Given the description of an element on the screen output the (x, y) to click on. 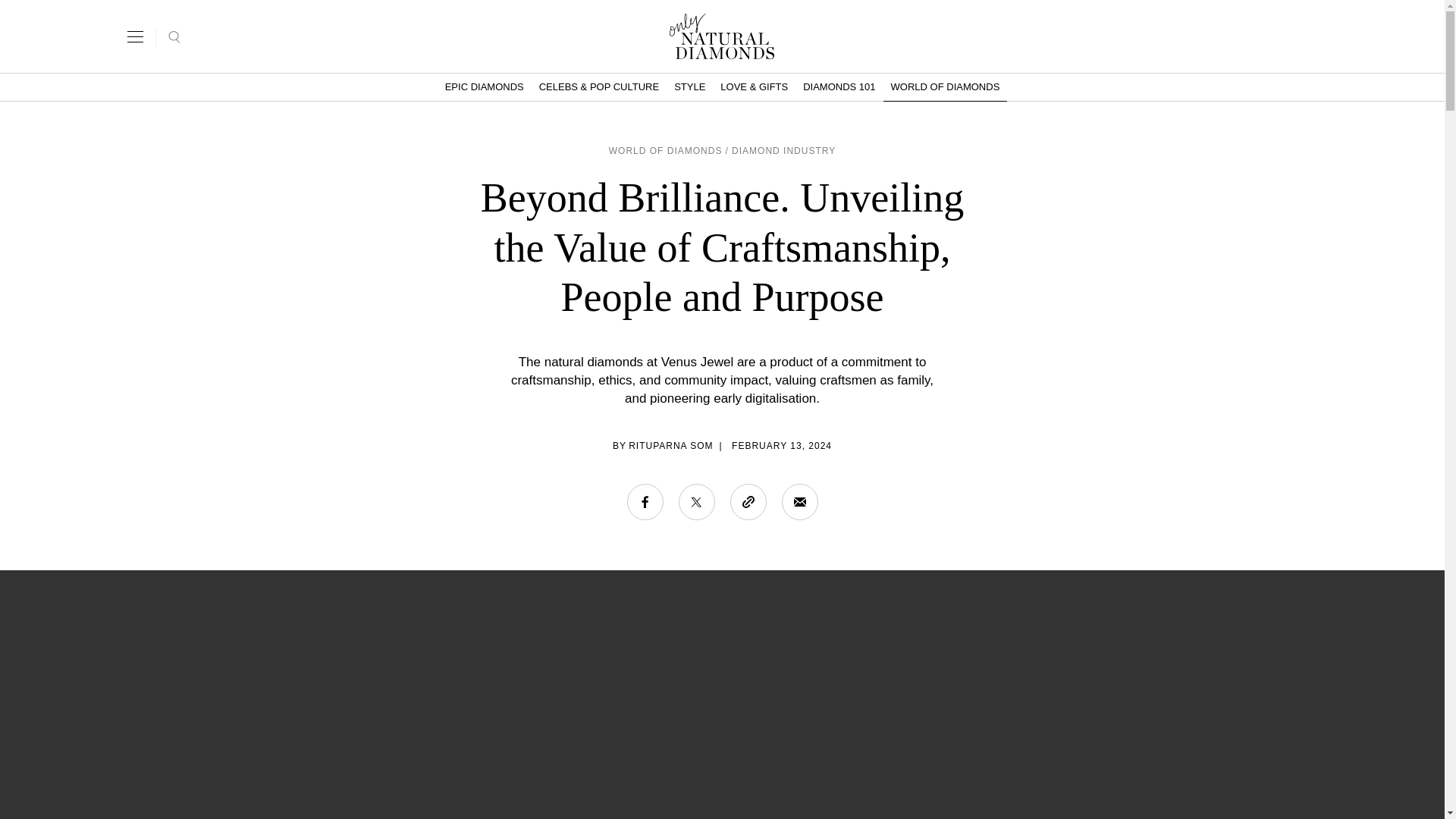
Clipboard (747, 502)
Posts by Rituparna Som (670, 445)
WORLD OF DIAMONDS (945, 86)
Share on Facebook (644, 502)
Email this page (798, 502)
Tweet This (696, 502)
DIAMONDS 101 (838, 86)
STYLE (689, 86)
EPIC DIAMONDS (484, 86)
